Given the description of an element on the screen output the (x, y) to click on. 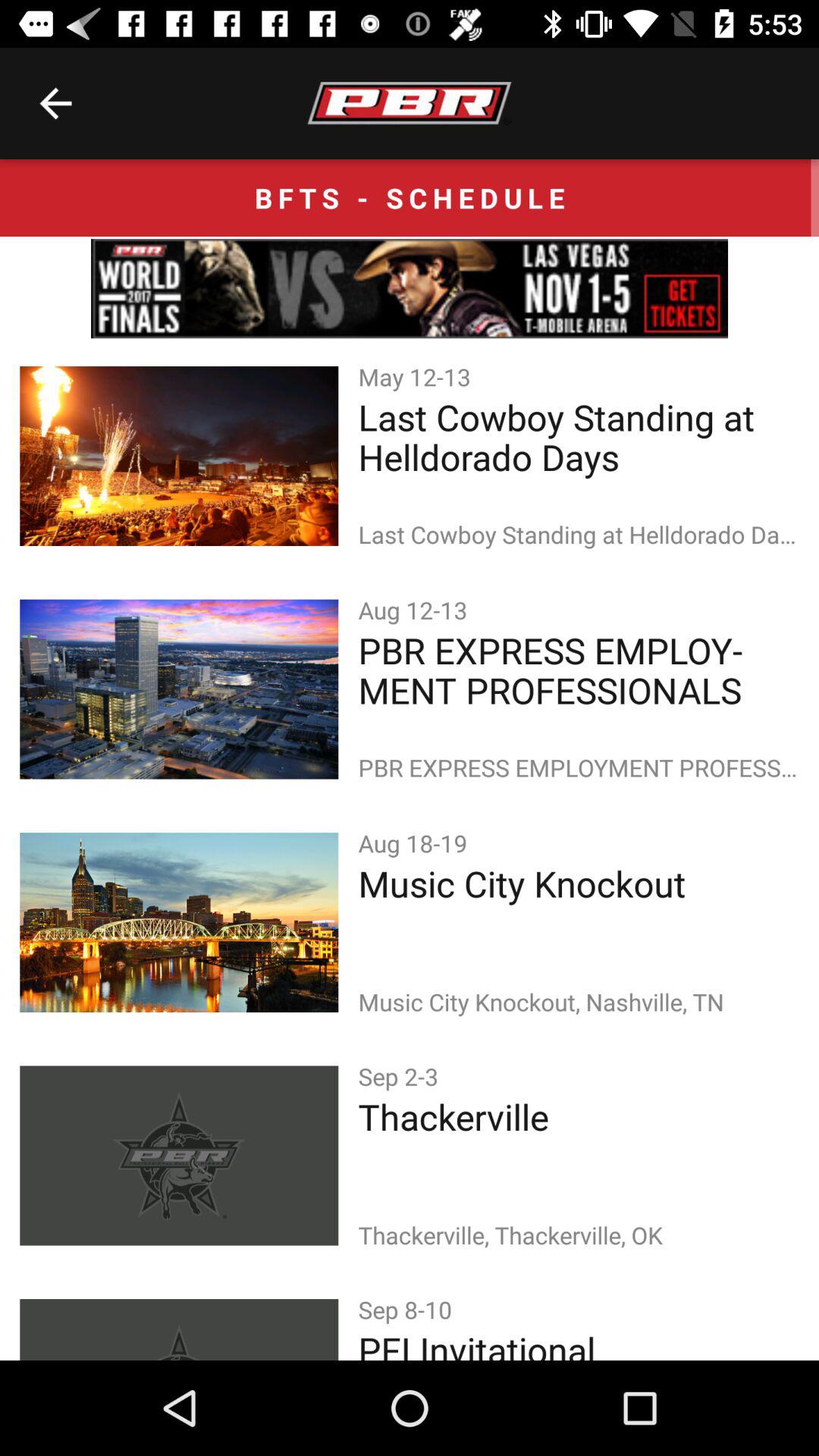
book tickets (409, 288)
